Given the description of an element on the screen output the (x, y) to click on. 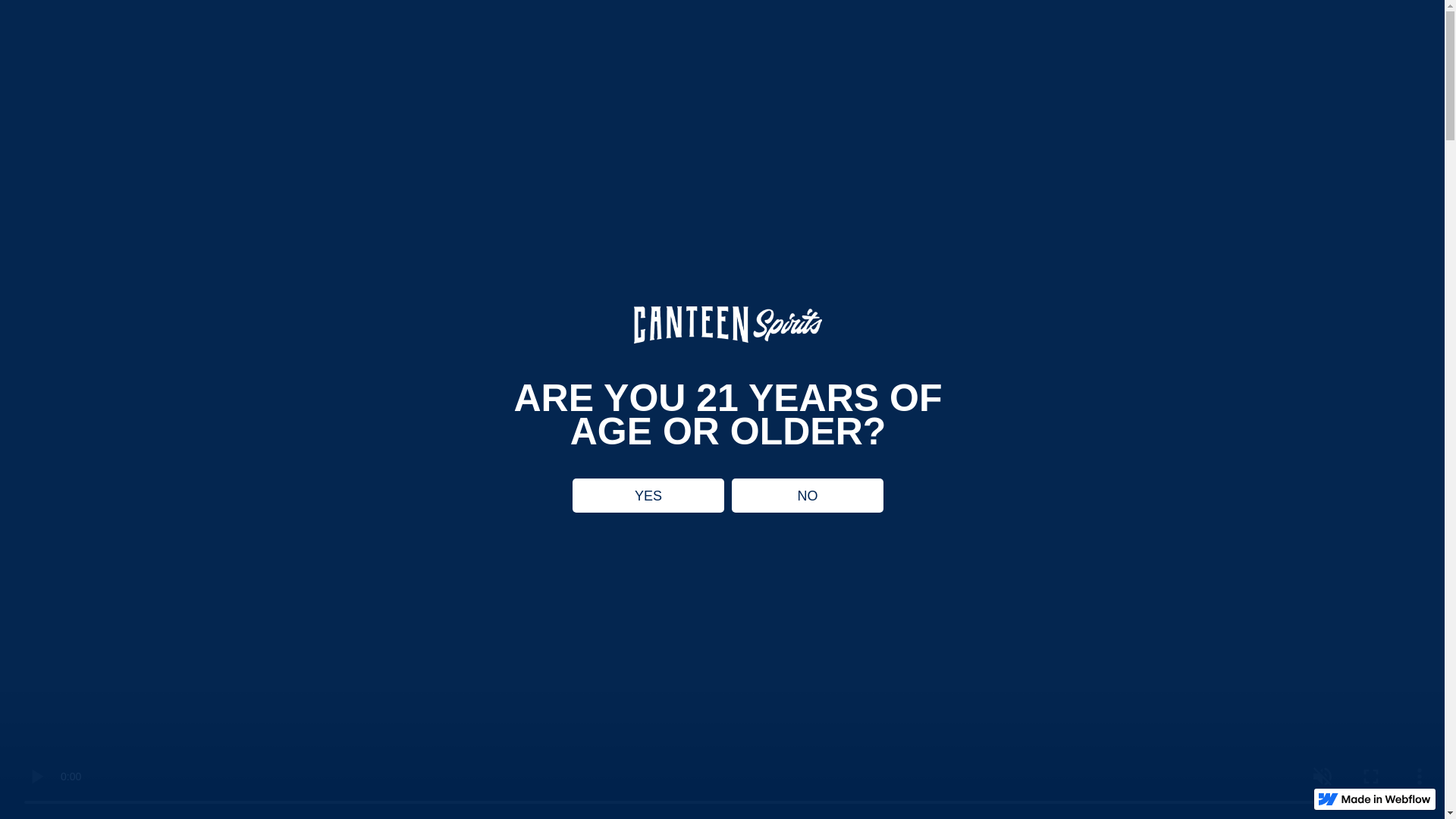
NO (807, 495)
YES (647, 495)
